Given the description of an element on the screen output the (x, y) to click on. 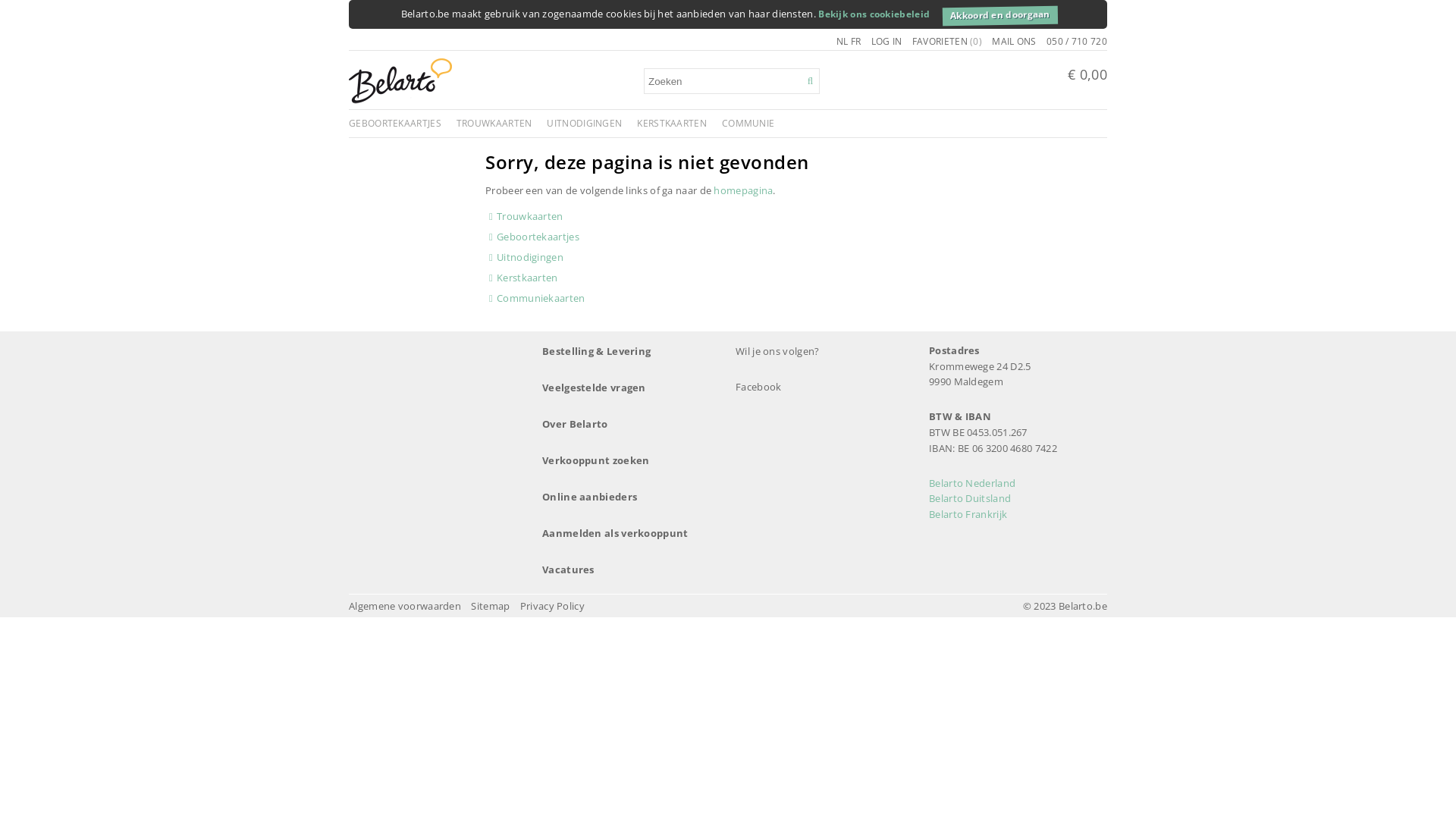
Communiekaarten Element type: text (540, 297)
Uitnodigingen Element type: text (529, 256)
Sitemap Element type: text (490, 606)
Ik accepteer Element type: text (1105, 16)
KERSTKAARTEN Element type: text (671, 122)
Belarto Nederland Element type: text (971, 482)
homepagina Element type: text (742, 190)
Geboortekaartjes Element type: text (537, 236)
TROUWKAARTEN Element type: text (494, 122)
UITNODIGINGEN Element type: text (583, 122)
COMMUNIE Element type: text (747, 122)
Bestelling & Levering Element type: text (631, 351)
Bekijk ons cookiebeleid Element type: text (874, 13)
Vacatures Element type: text (631, 569)
Trouwkaarten Element type: text (529, 215)
Kerstkaarten Element type: text (527, 277)
Aanmelden als verkooppunt Element type: text (631, 533)
Belarto Duitsland Element type: text (969, 498)
GEBOORTEKAARTJES Element type: text (394, 122)
Over Belarto Element type: text (631, 423)
Algemene voorwaarden Element type: text (405, 606)
Belarto Frankrijk Element type: text (967, 513)
Facebook Element type: text (800, 386)
Online aanbieders Element type: text (631, 496)
FR Element type: text (855, 40)
MAIL ONS Element type: text (1013, 40)
Akkoord en doorgaan Element type: text (997, 12)
LOG IN Element type: text (886, 40)
Privacy Policy Element type: text (552, 606)
Veelgestelde vragen Element type: text (631, 387)
Verkooppunt zoeken Element type: text (631, 460)
FAVORIETEN (0) Element type: text (947, 40)
Belarto.be Element type: hover (399, 99)
